Given the description of an element on the screen output the (x, y) to click on. 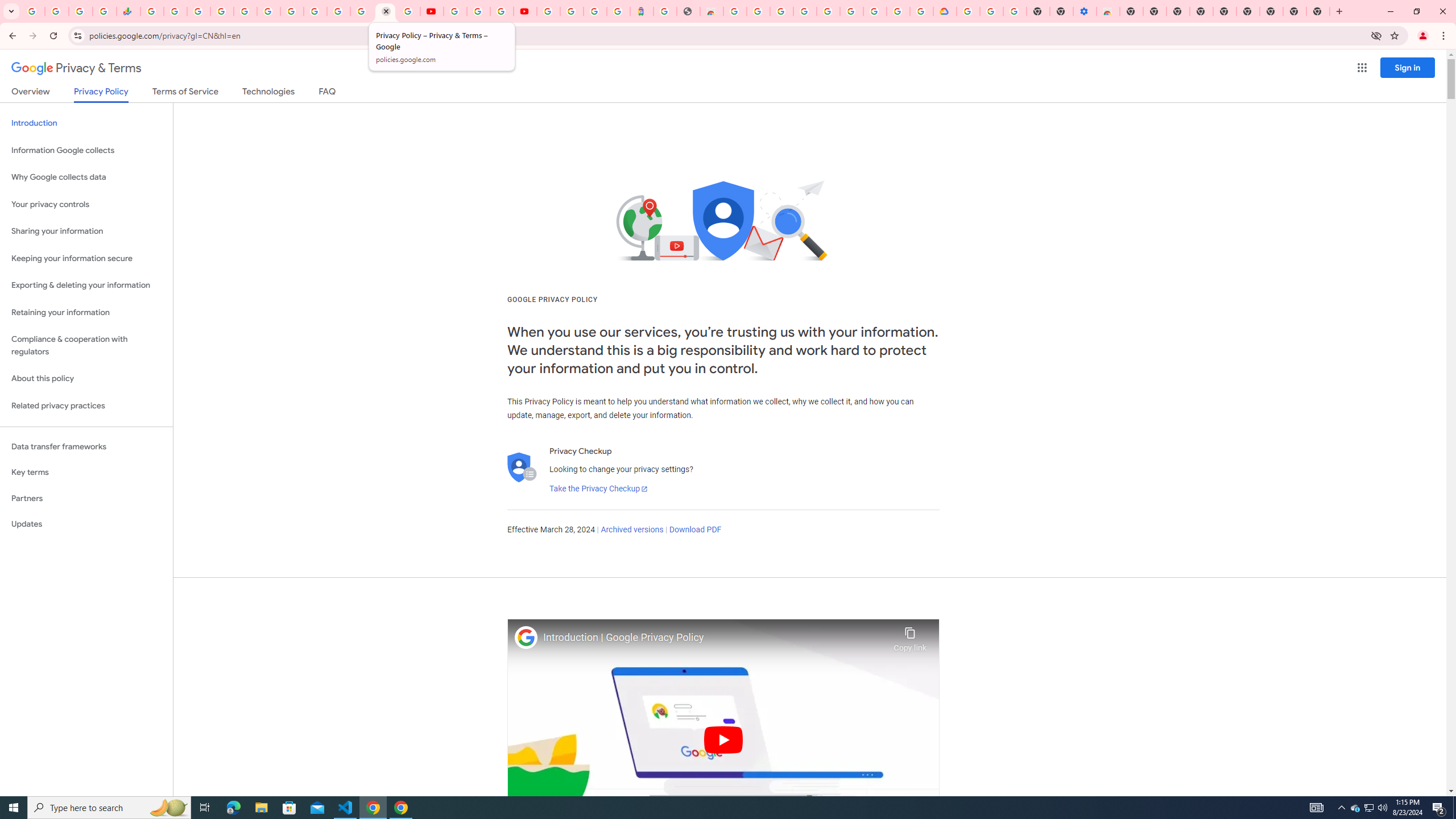
Turn cookies on or off - Computer - Google Account Help (1015, 11)
YouTube (454, 11)
Compliance & cooperation with regulators (86, 345)
New Tab (1131, 11)
Updates (86, 524)
Information Google collects (86, 150)
Technologies (268, 93)
Sign in - Google Accounts (571, 11)
Settings - Accessibility (1085, 11)
Why Google collects data (86, 176)
YouTube (314, 11)
